Given the description of an element on the screen output the (x, y) to click on. 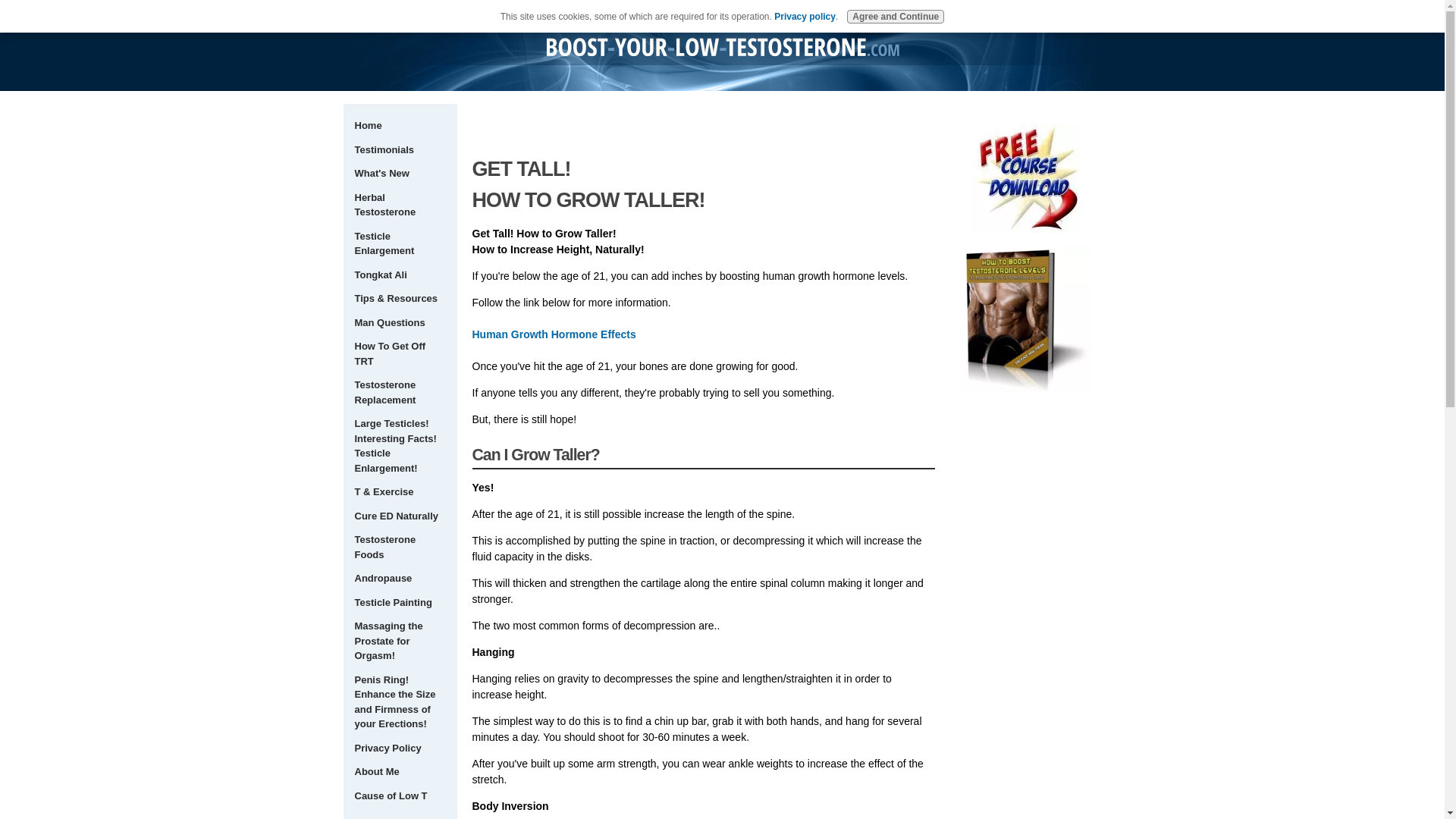
Agree and Continue (895, 16)
Testicle Enlargement (399, 242)
Cause of Low T (399, 794)
Massaging the Prostate for Orgasm! (399, 641)
Andropause (399, 578)
How To Get Off TRT (399, 353)
What's New (399, 173)
Testimonials (399, 149)
Testicle Painting (399, 602)
Large Testicles! Interesting Facts! Testicle Enlargement! (399, 445)
Testosterone Replacement (399, 392)
Human Growth Hormone Effects (552, 334)
Penis Ring! Enhance the Size and Firmness of your Erections! (399, 702)
